Given the description of an element on the screen output the (x, y) to click on. 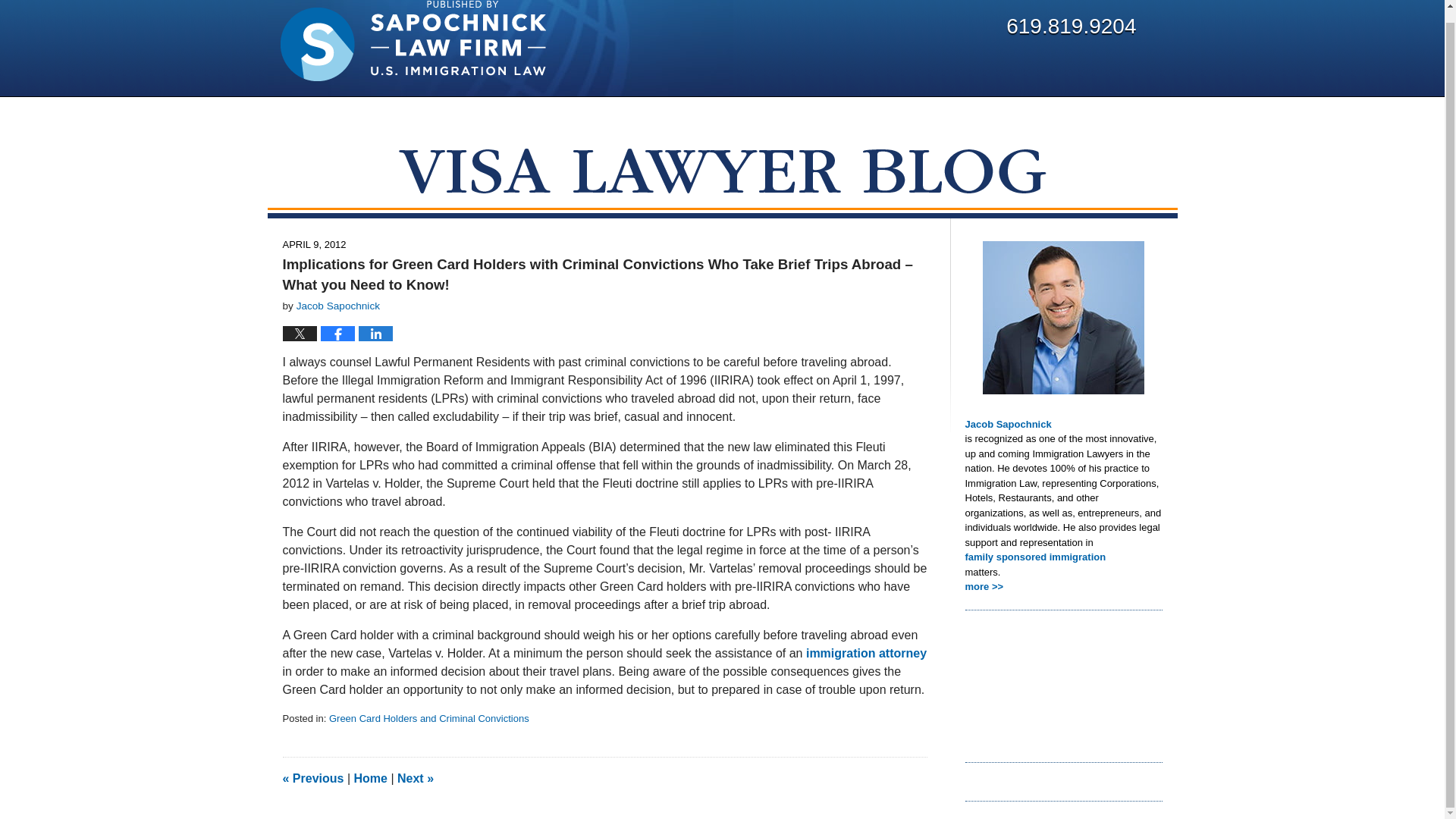
Green Card Holders and Criminal Convictions (429, 717)
family sponsored immigration (1062, 557)
immigration attorney (864, 653)
H1B Visa Cap Update April 5, 2012 (312, 778)
Jacob Sapochnick (1062, 424)
619.819.9204 (1070, 26)
Jacob Sapochnick (338, 306)
After Jobs Act, Steve Case Turns His Focus to Immigration (415, 778)
Visa Lawyer Blog (413, 40)
